Given the description of an element on the screen output the (x, y) to click on. 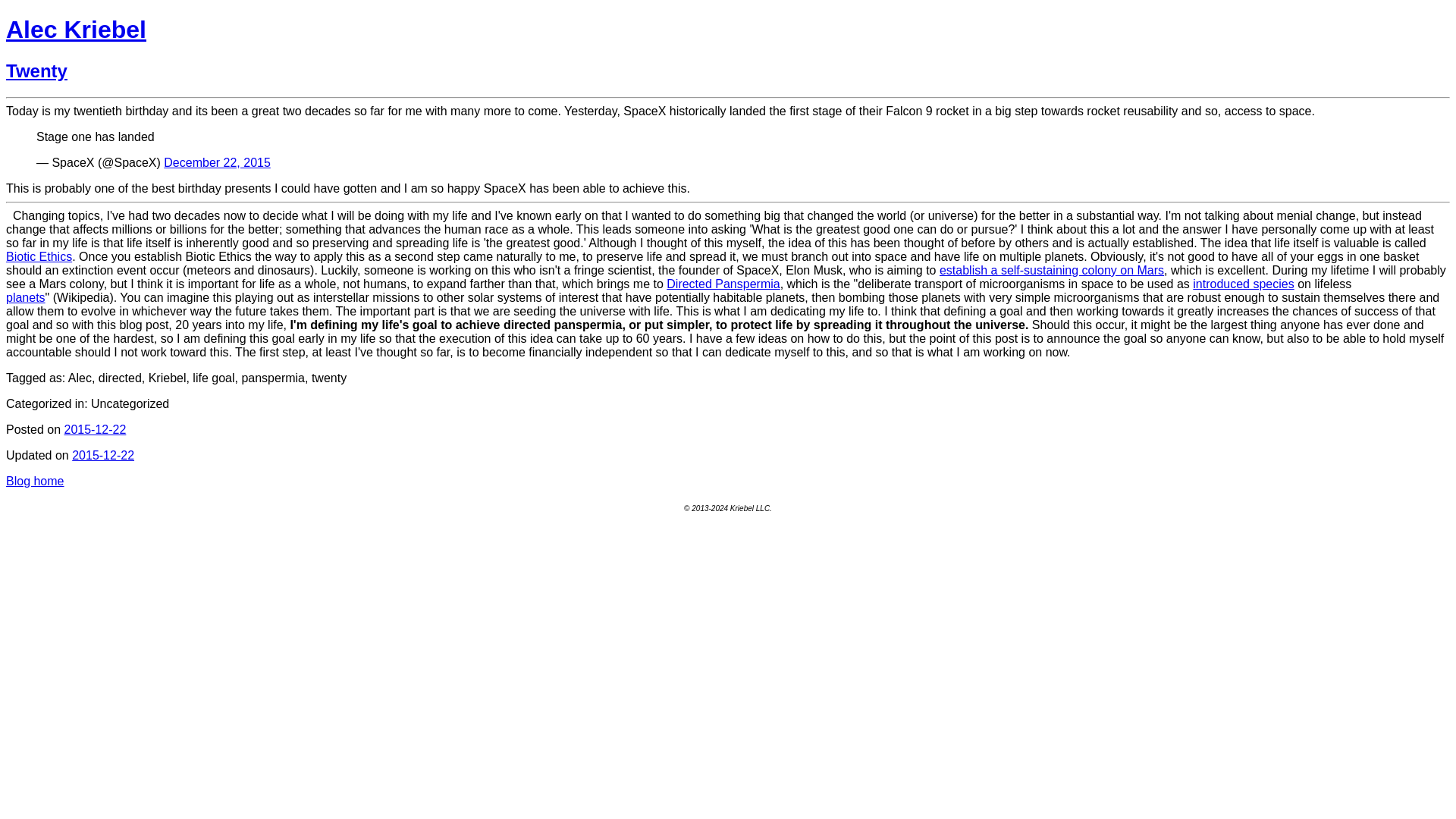
Blog home (34, 481)
Alec Kriebel (76, 29)
Biotic Ethics (38, 256)
December 22, 2015 (216, 162)
Directed Panspermia (722, 283)
introduced species (1243, 283)
Planet (25, 297)
2015-12-22 (102, 454)
Twenty (35, 70)
Introduced species (1243, 283)
